Given the description of an element on the screen output the (x, y) to click on. 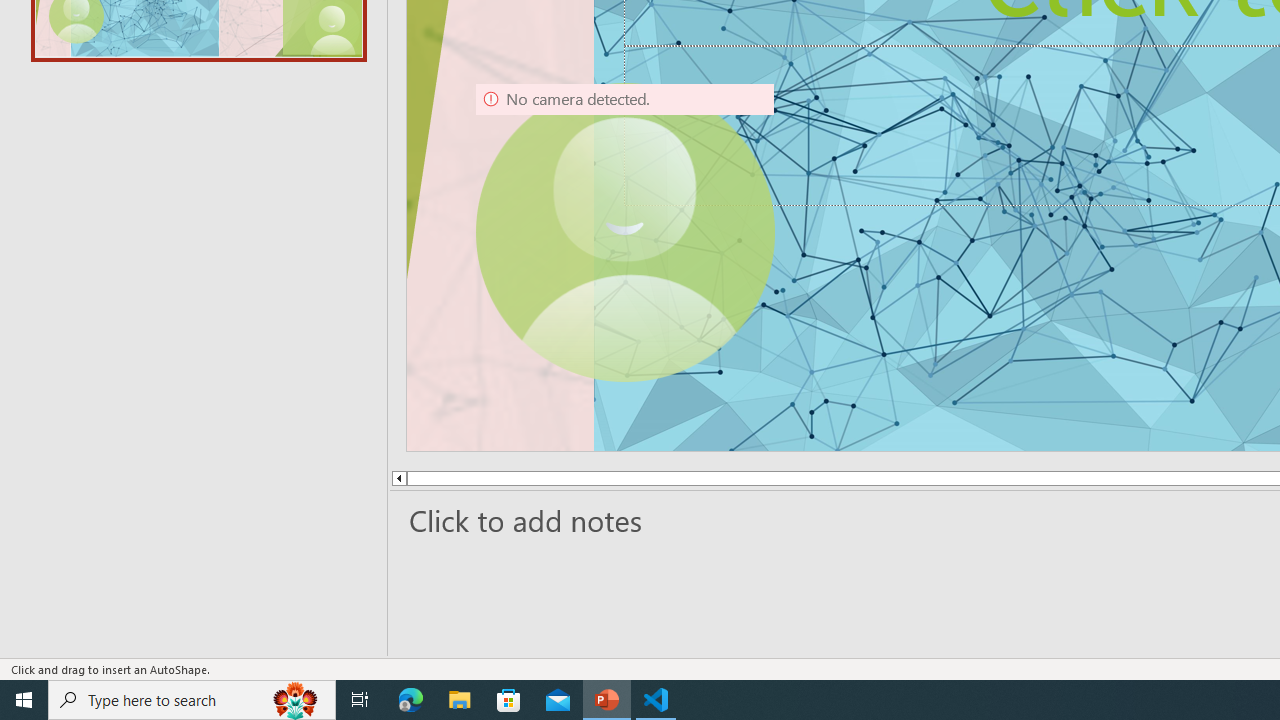
Camera 9, No camera detected. (624, 232)
